Given the description of an element on the screen output the (x, y) to click on. 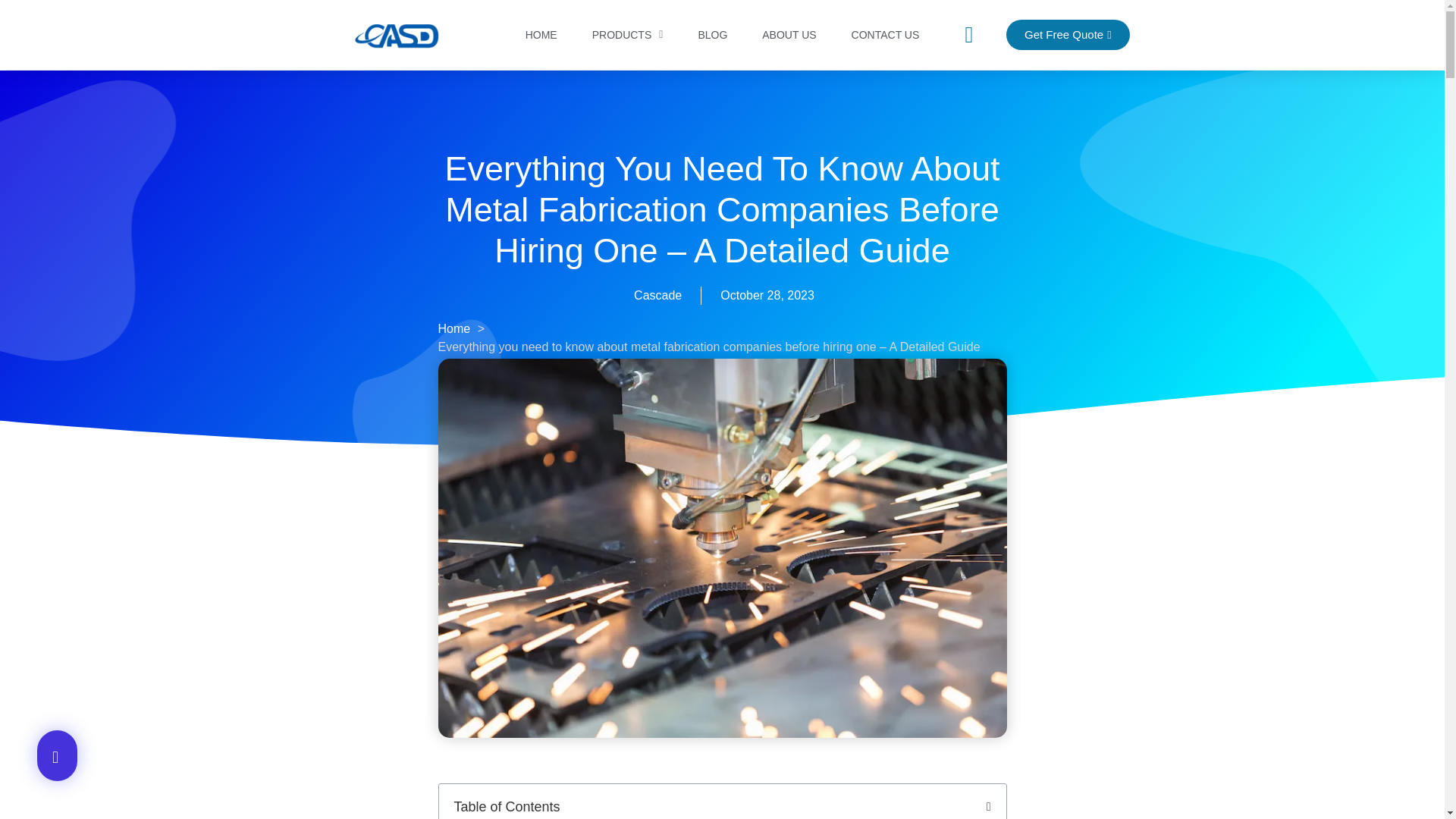
PRODUCTS (627, 34)
Get Free Quote (1067, 34)
ABOUT US (788, 34)
CONTACT US (884, 34)
HOME (541, 34)
